Given the description of an element on the screen output the (x, y) to click on. 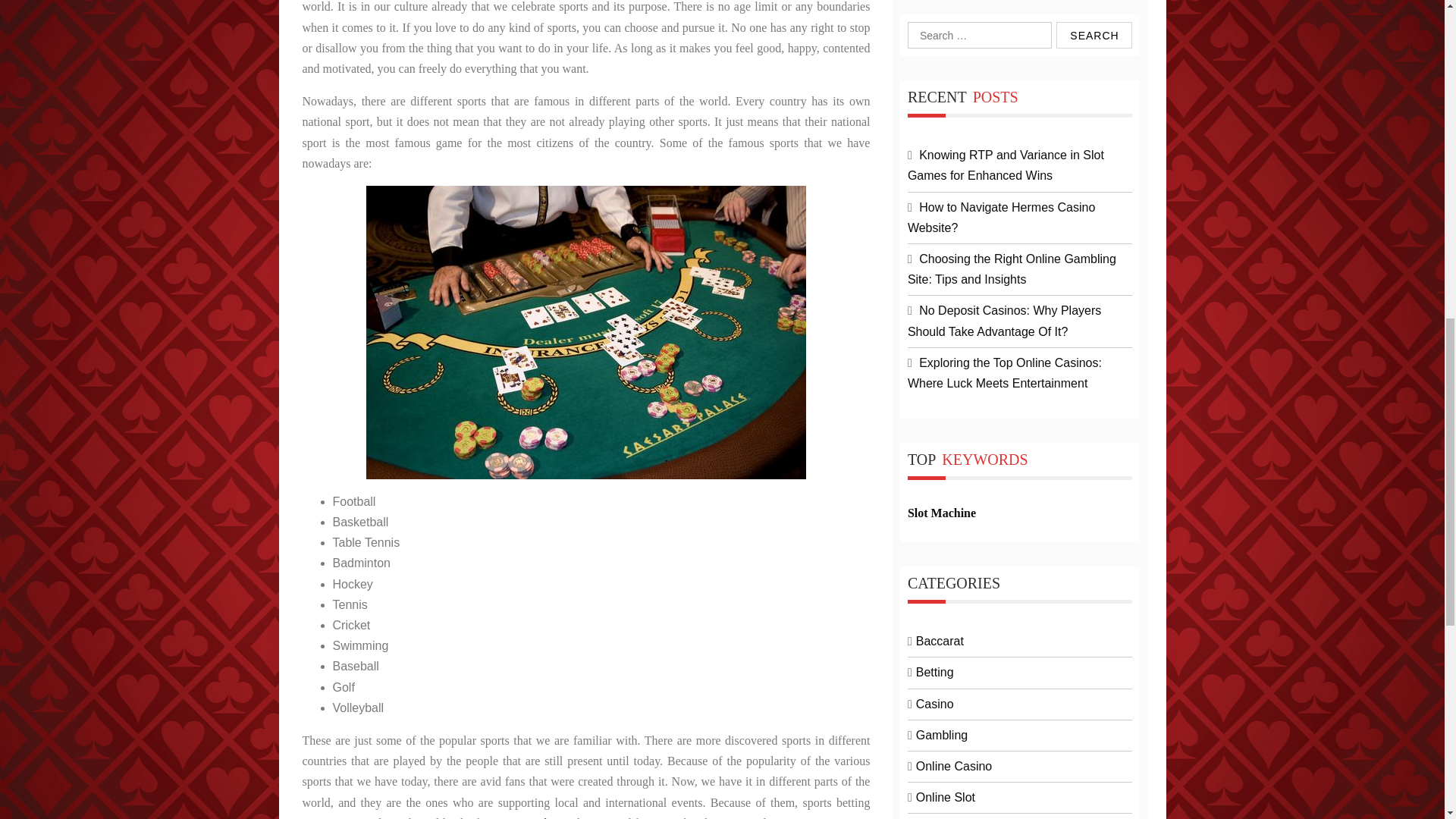
Playing Online Casino Games (586, 332)
Search (1094, 35)
Search (1094, 35)
